Given the description of an element on the screen output the (x, y) to click on. 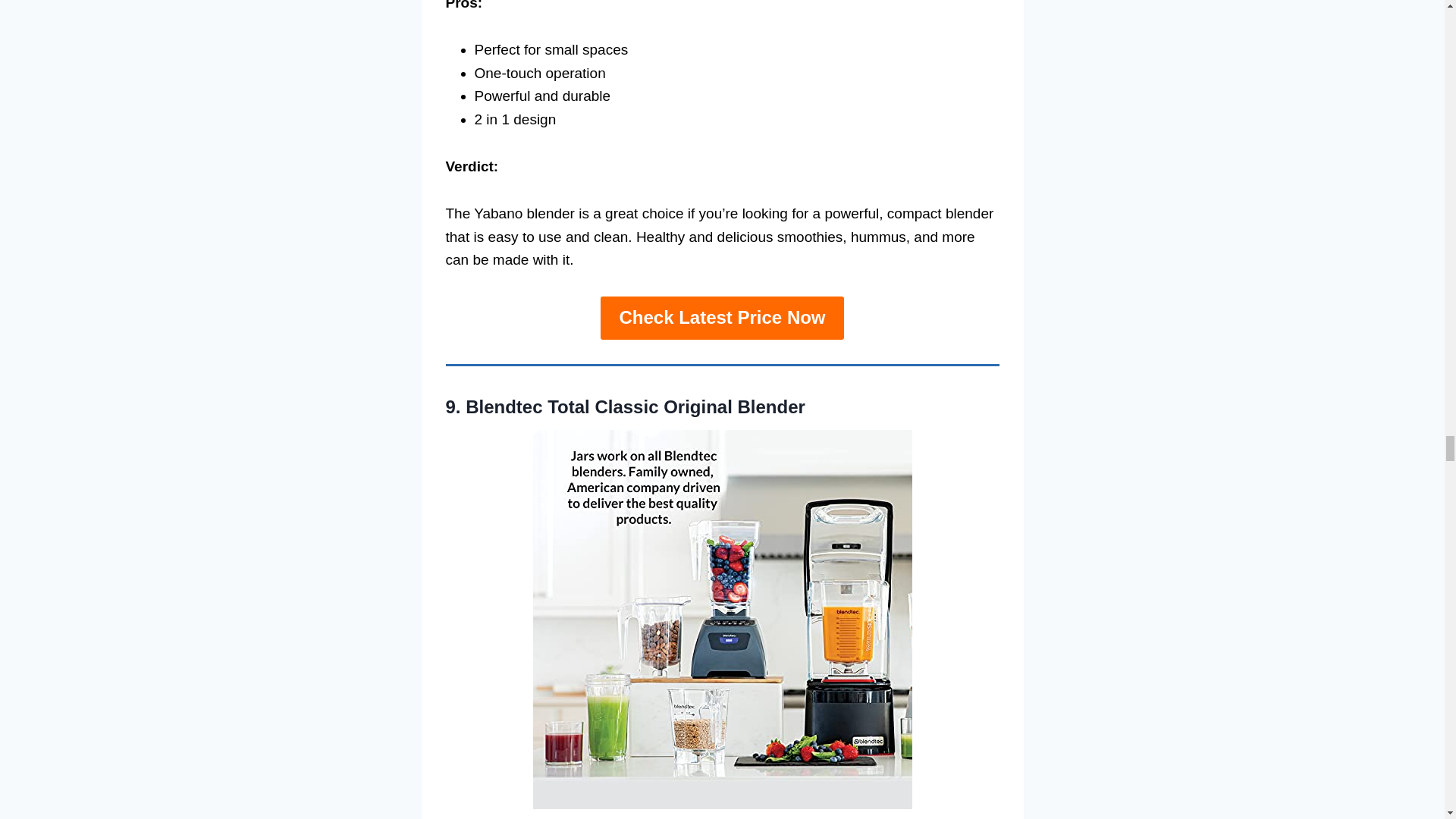
Check Latest Price Now (721, 318)
